Given the description of an element on the screen output the (x, y) to click on. 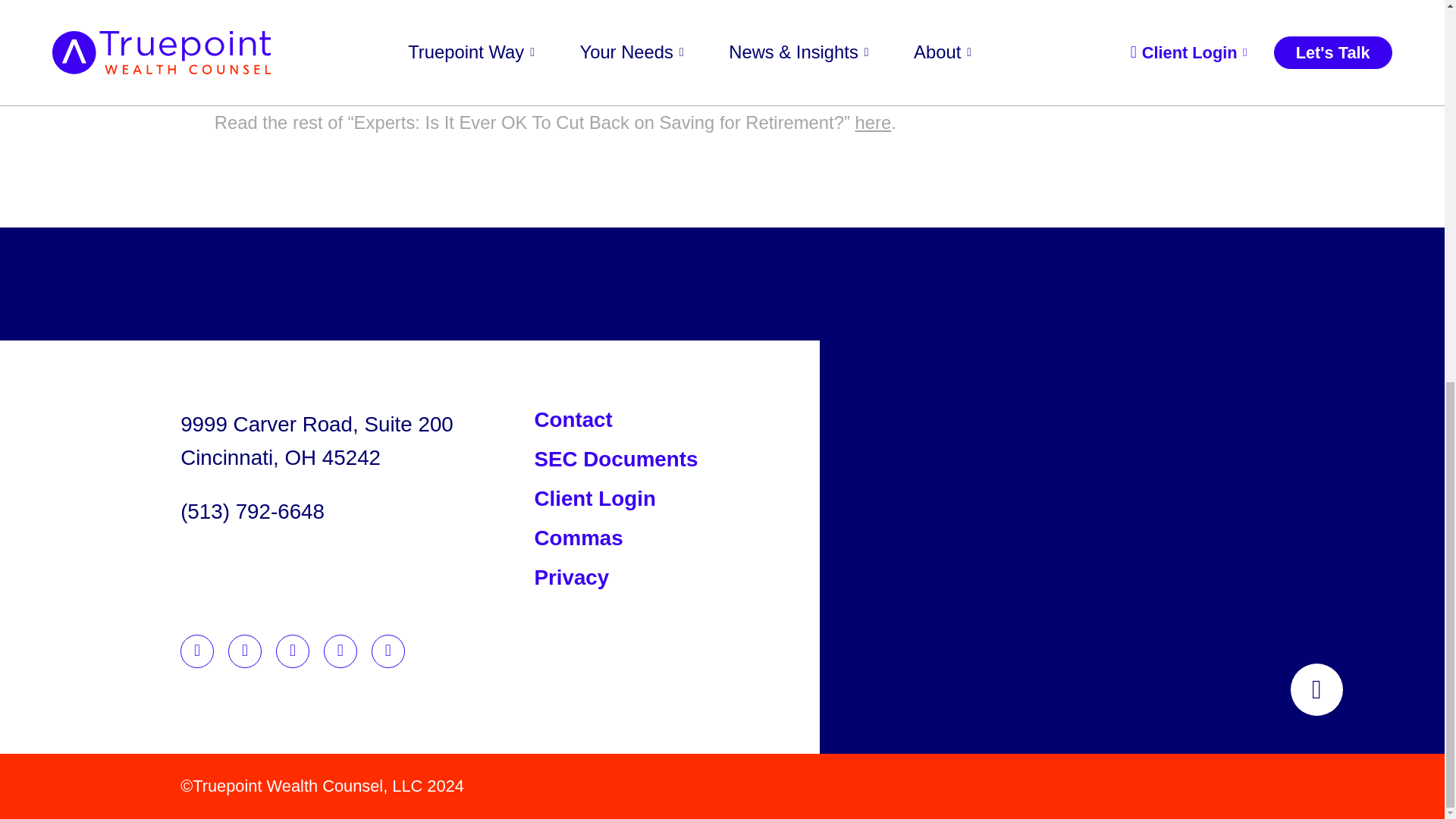
Linkedin (197, 651)
Instagram (339, 651)
Twitter (292, 651)
Facebook (245, 651)
Linkedin (197, 651)
Contact (316, 440)
Truepoint Wealth Counsel (572, 419)
Scroll To Top (512, 59)
SEC Documents (1316, 689)
here (615, 458)
Privacy (872, 122)
Client Login (571, 576)
Commas (594, 498)
Twitter (578, 537)
